Given the description of an element on the screen output the (x, y) to click on. 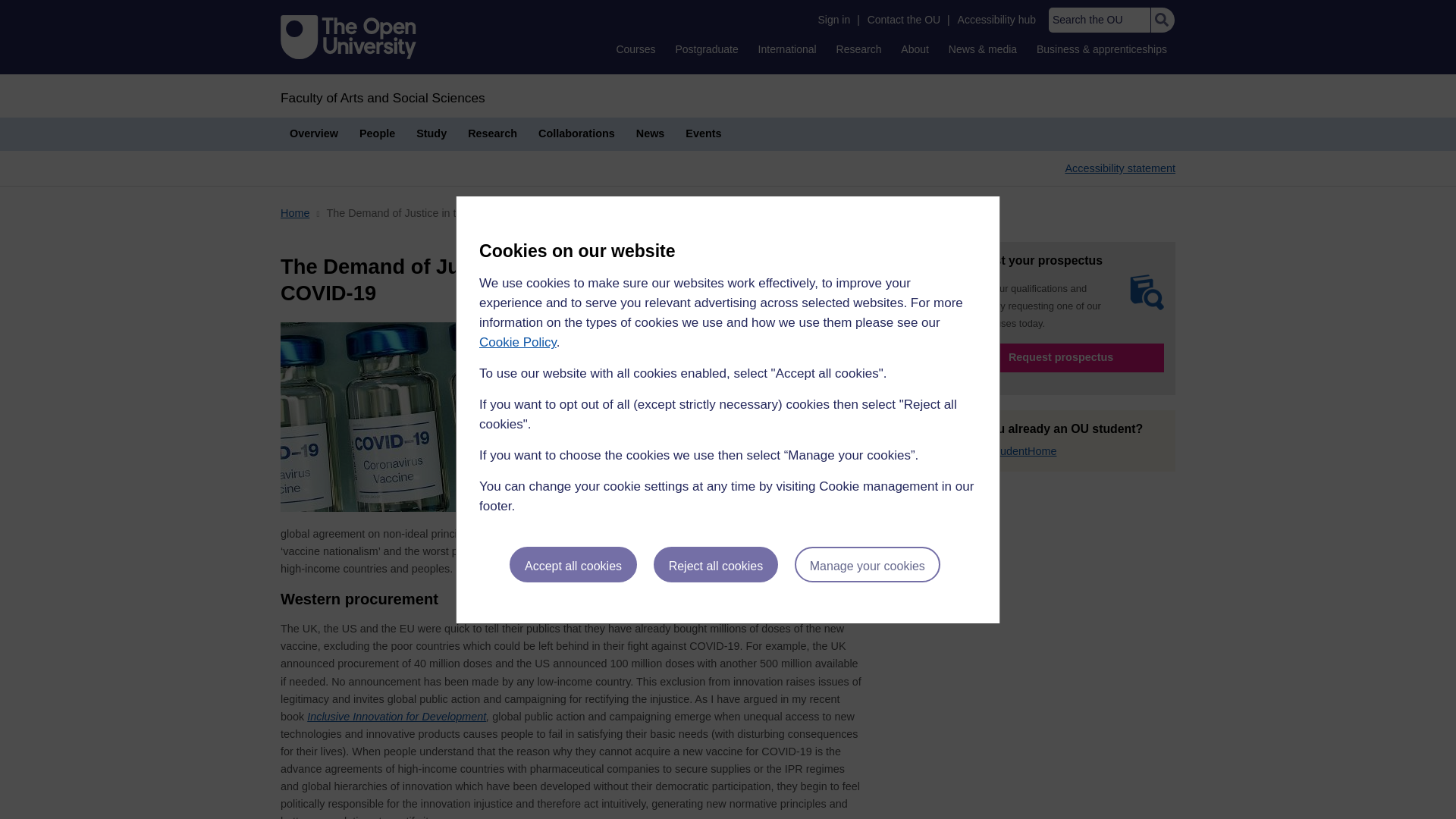
Cookie Policy (517, 341)
Contact the OU (903, 19)
Search (1161, 19)
The Open University (348, 36)
Home (382, 97)
Courses (635, 49)
Search (1161, 19)
Manage your cookies (867, 564)
Research (858, 49)
